Given the description of an element on the screen output the (x, y) to click on. 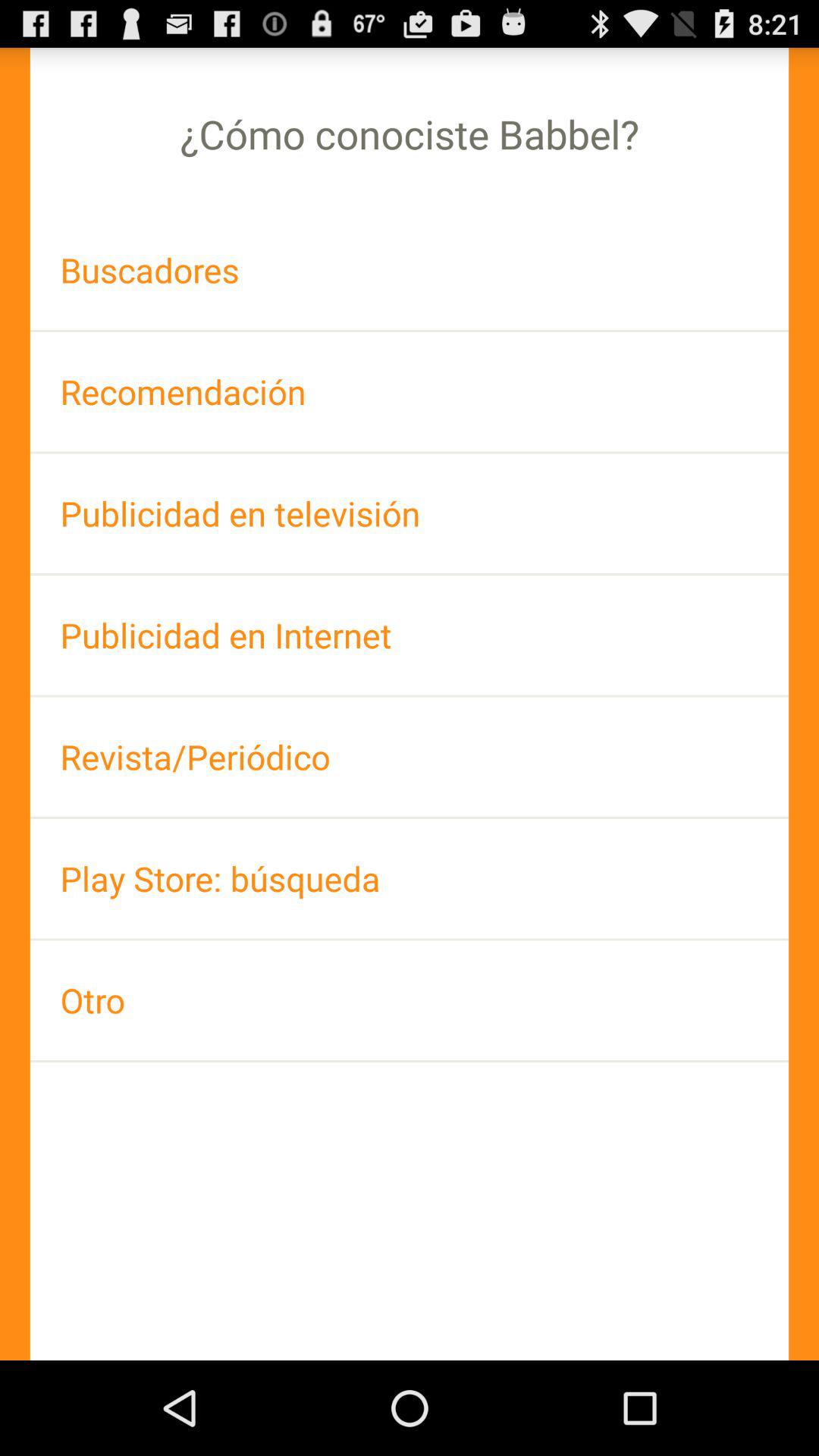
flip until the otro item (409, 1000)
